Given the description of an element on the screen output the (x, y) to click on. 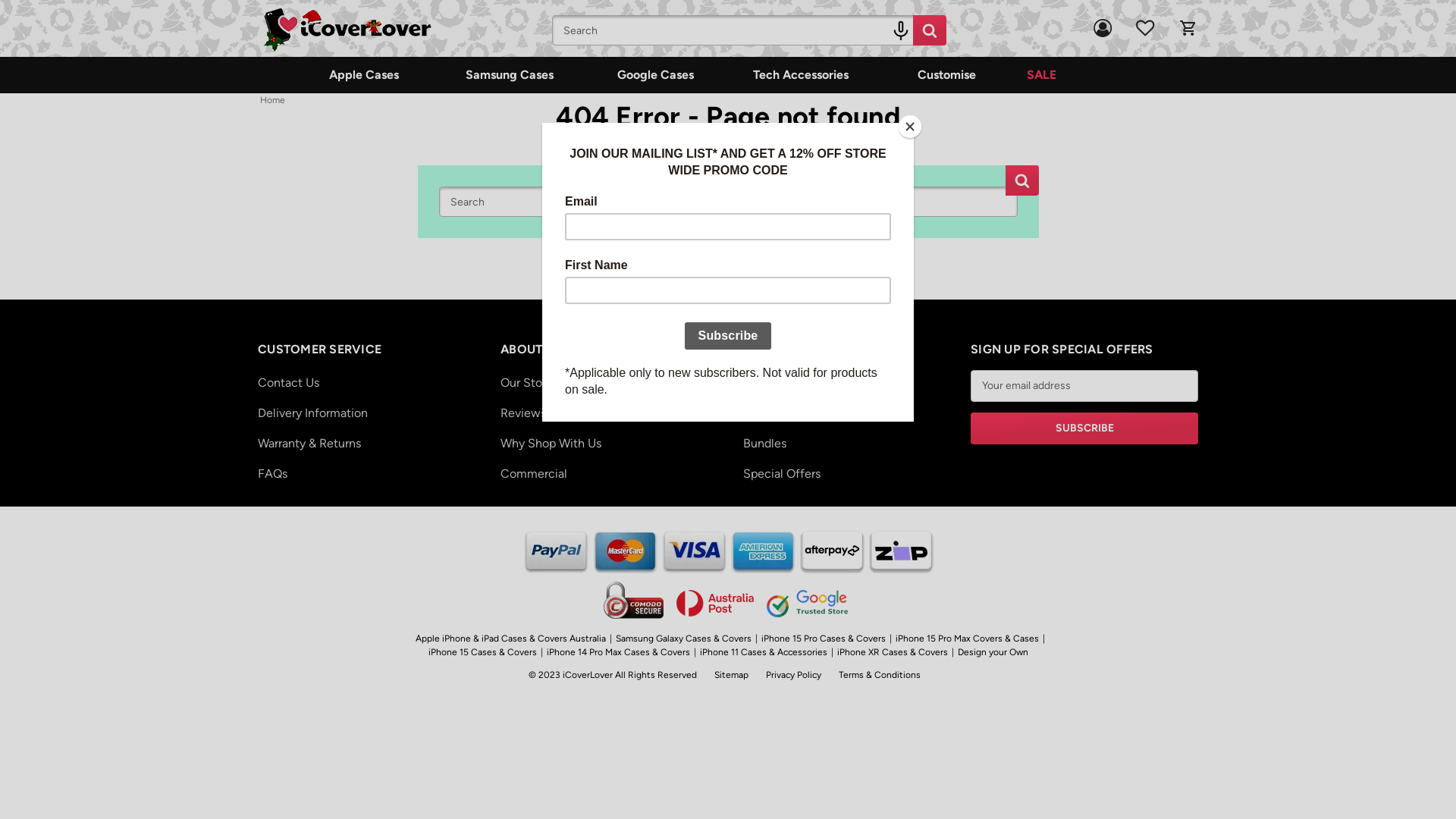
Home Element type: text (272, 99)
iPhone XR Cases & Covers Element type: text (891, 651)
iCoverLover Element type: hover (347, 30)
Customise Element type: text (946, 74)
Why Shop With Us Element type: text (606, 442)
Commercial Element type: text (606, 473)
iPhone 15 Cases & Covers Element type: text (482, 651)
Apple iPhone & iPad Cases & Covers Australia Element type: text (509, 637)
Gift Certificates Element type: text (849, 412)
Our Story Element type: text (606, 382)
Bundles Element type: text (849, 442)
Privacy Policy Element type: text (793, 674)
FAQs Element type: text (363, 473)
Samsung Galaxy Cases & Covers Element type: text (682, 637)
Delivery Information Element type: text (363, 412)
Subscribe Element type: text (1084, 428)
Tech Accessories Element type: text (800, 74)
Contact Us Element type: text (363, 382)
Apple Cases Element type: text (363, 74)
Terms & Conditions Element type: text (879, 674)
Design your Own Element type: text (992, 651)
Google Cases Element type: text (655, 74)
Mobile Tech News & Tips Element type: text (849, 382)
Reviews Element type: text (606, 412)
Samsung Cases Element type: text (509, 74)
Special Offers Element type: text (849, 473)
SALE Element type: text (1041, 74)
iPhone 11 Cases & Accessories Element type: text (763, 651)
Warranty & Returns Element type: text (363, 442)
iPhone 15 Pro Cases & Covers Element type: text (822, 637)
Sitemap Element type: text (731, 674)
iPhone 14 Pro Max Cases & Covers Element type: text (617, 651)
iPhone 15 Pro Max Covers & Cases Element type: text (966, 637)
